Given the description of an element on the screen output the (x, y) to click on. 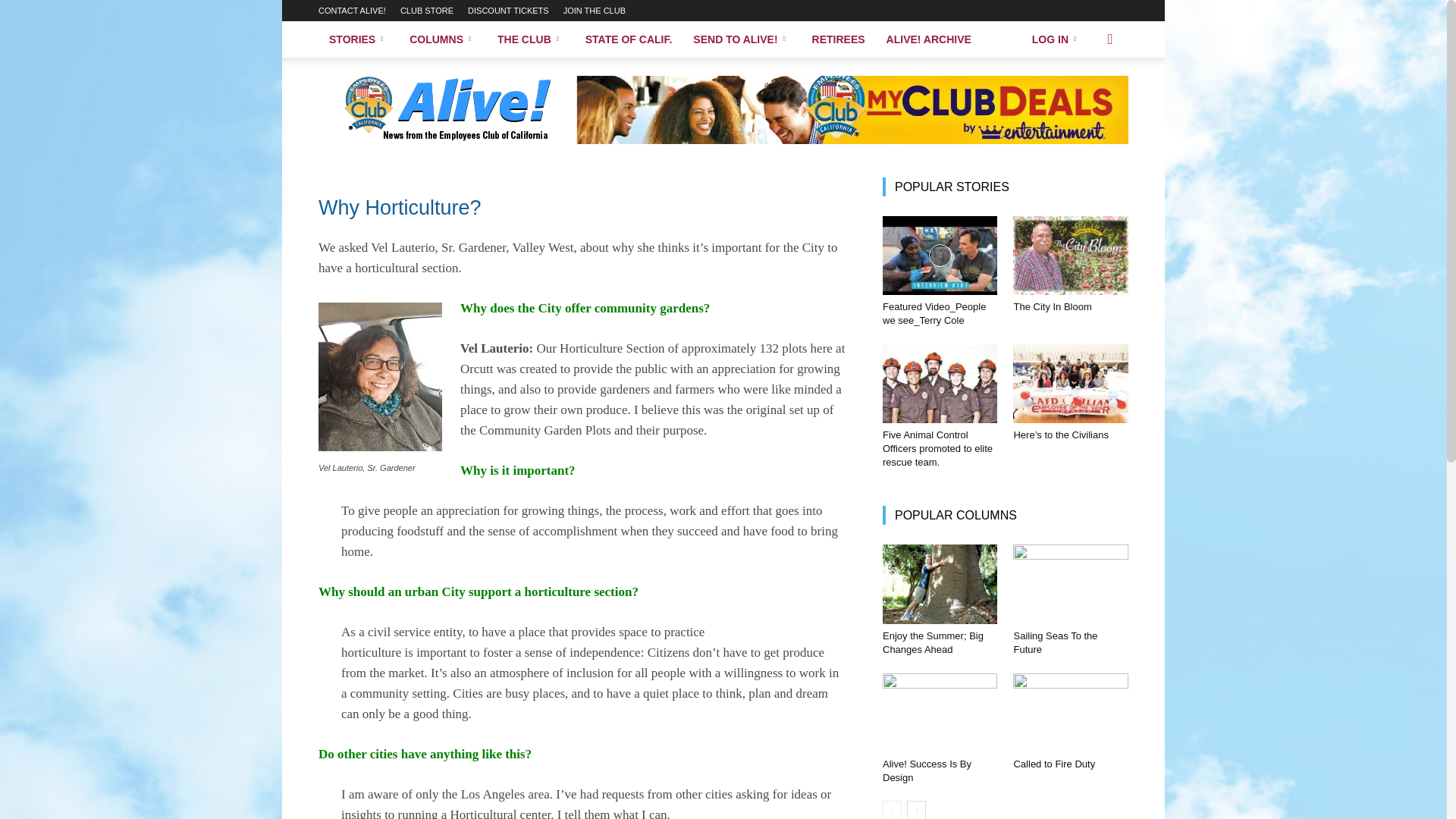
Five Animal Control Officers promoted to elite rescue team. (939, 383)
The City In Bloom (1069, 255)
The City In Bloom (1051, 306)
News for members of the Employees Club of California.  (446, 110)
